Given the description of an element on the screen output the (x, y) to click on. 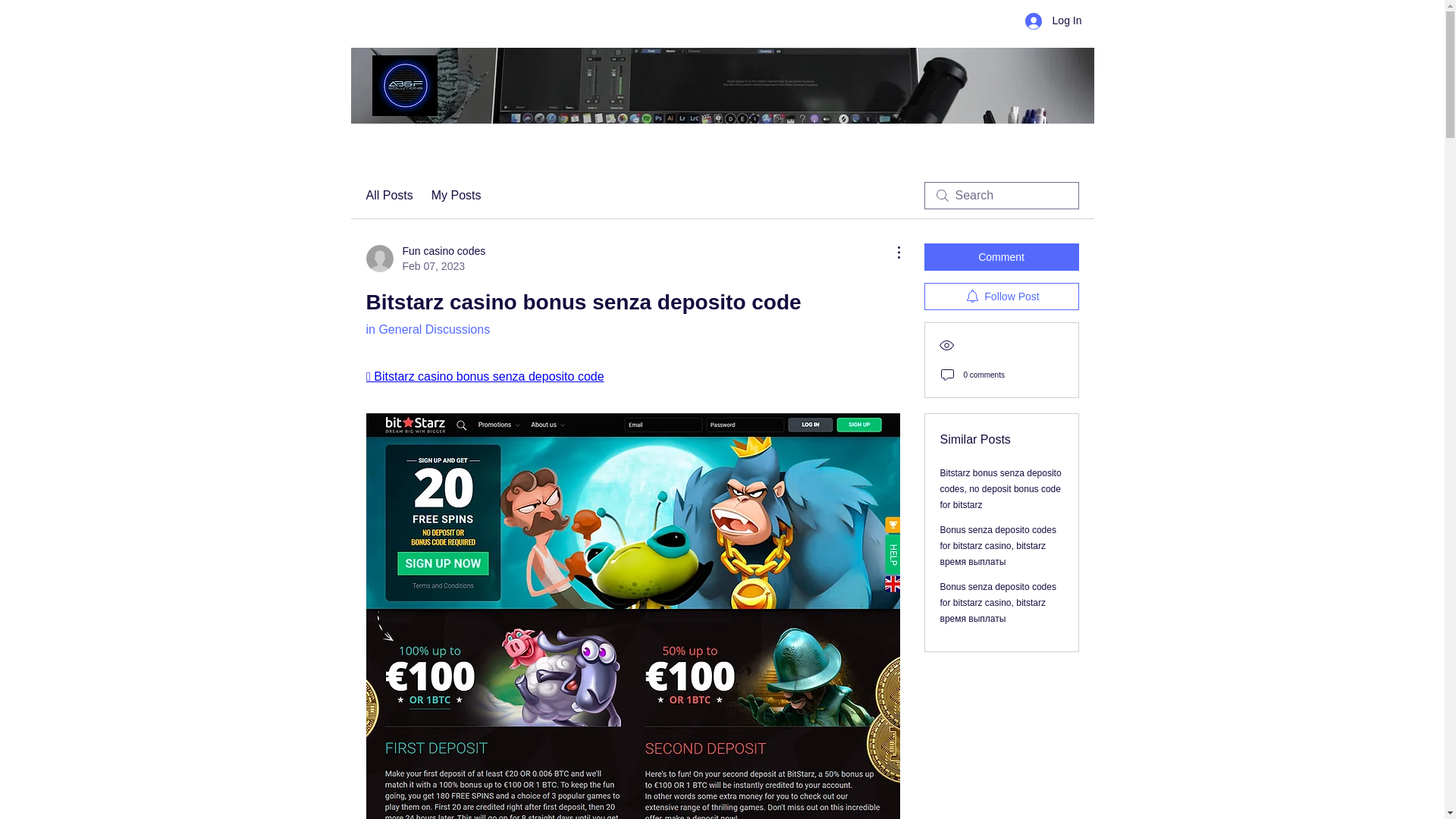
in General Discussions (427, 328)
All Posts (388, 195)
Comment (1000, 257)
Follow Post (1000, 296)
My Posts (455, 195)
Log In (424, 258)
